Given the description of an element on the screen output the (x, y) to click on. 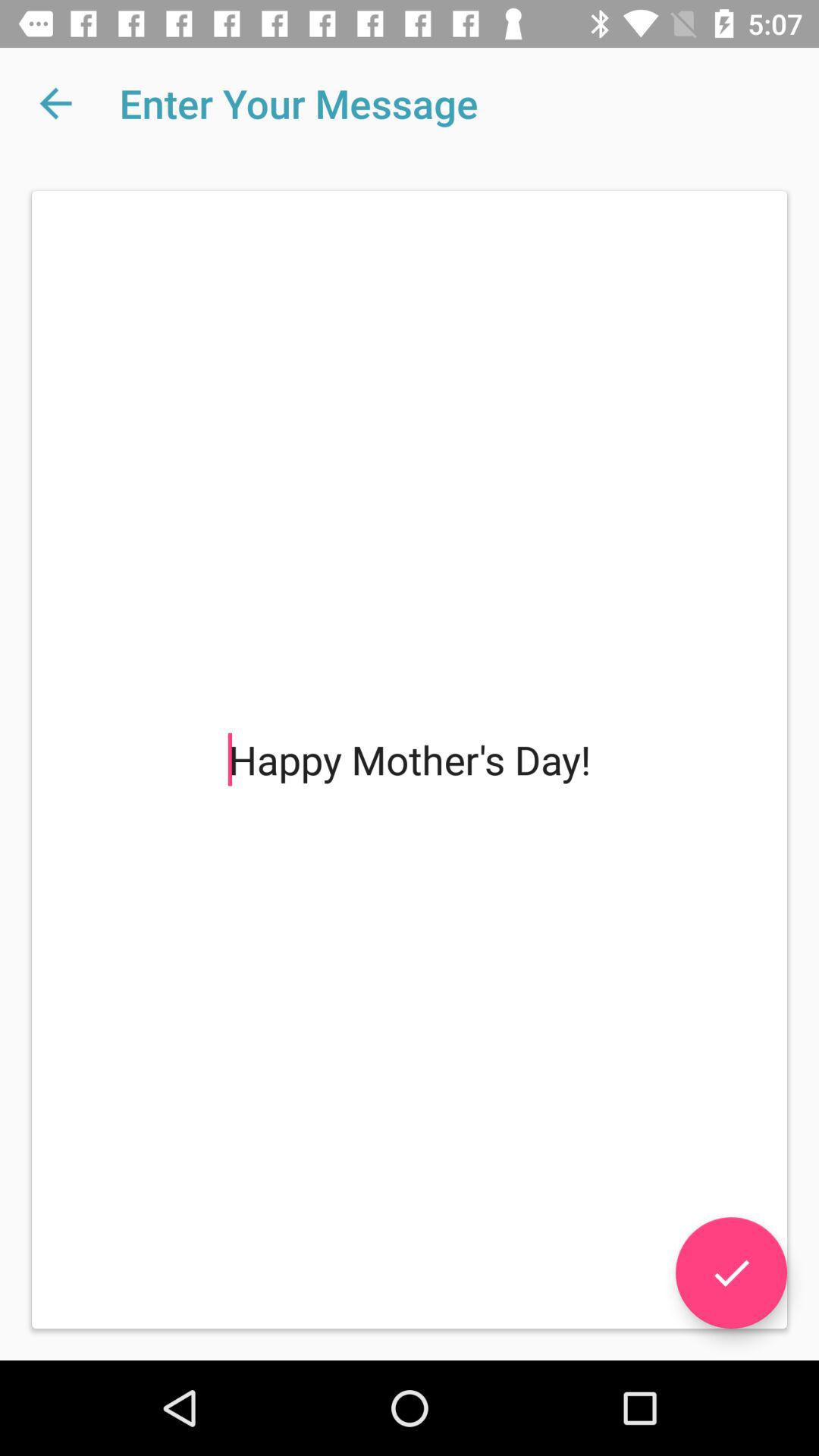
scroll to happy mother s item (409, 759)
